Given the description of an element on the screen output the (x, y) to click on. 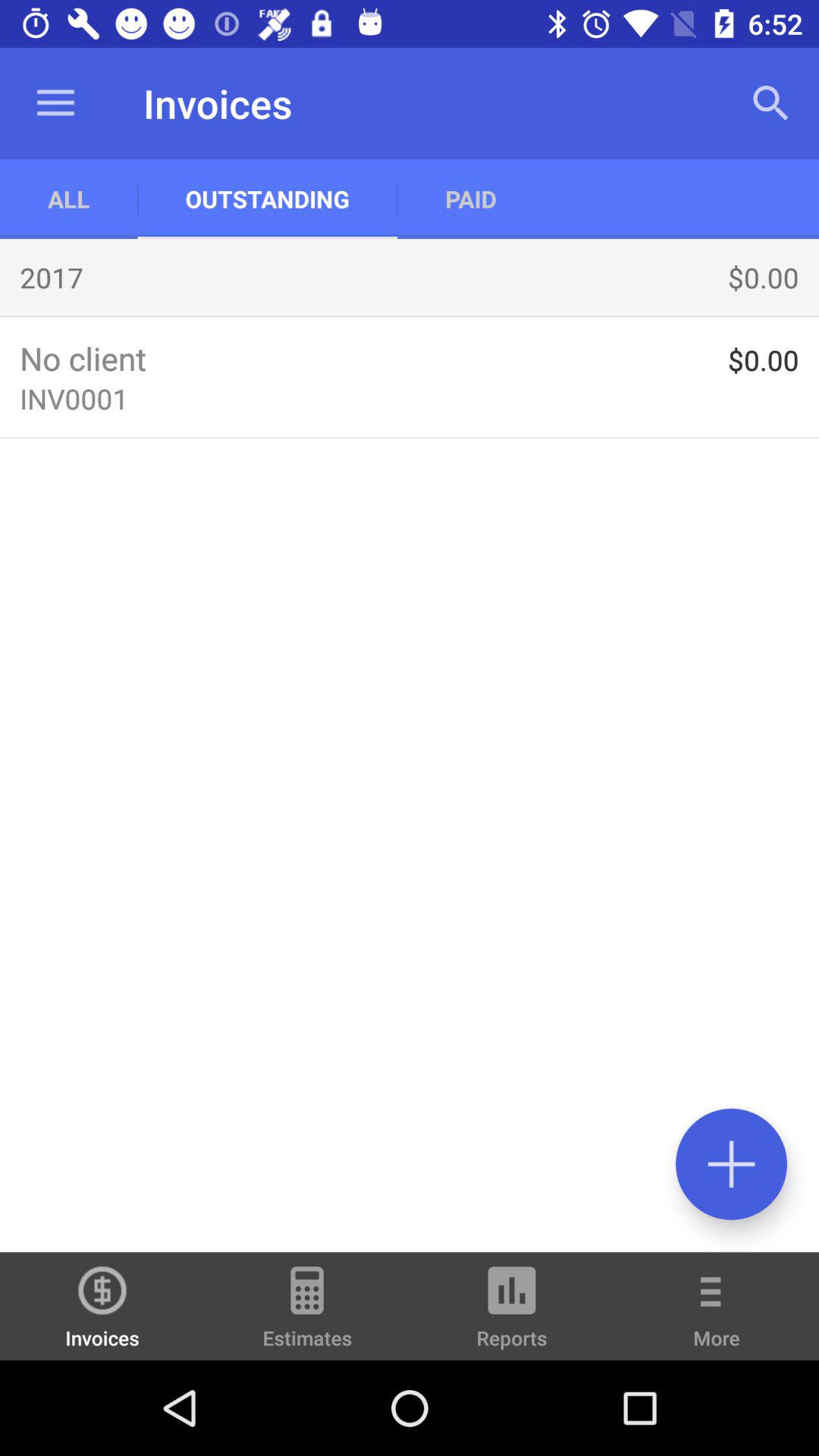
turn off the app to the right of the outstanding icon (470, 198)
